Given the description of an element on the screen output the (x, y) to click on. 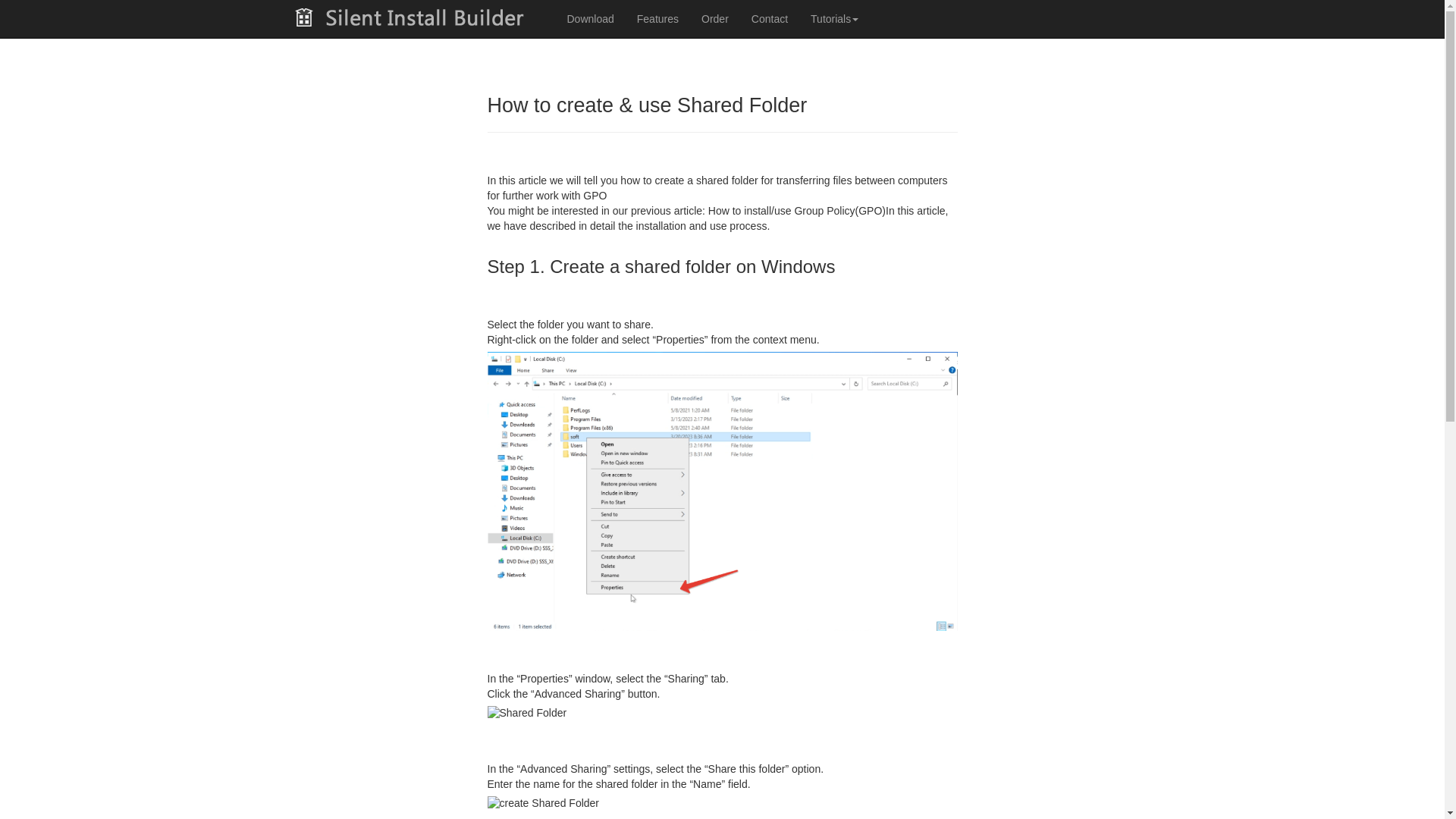
Tutorials (834, 18)
Contact (769, 18)
Features (658, 18)
Download (589, 18)
Order (714, 18)
